Given the description of an element on the screen output the (x, y) to click on. 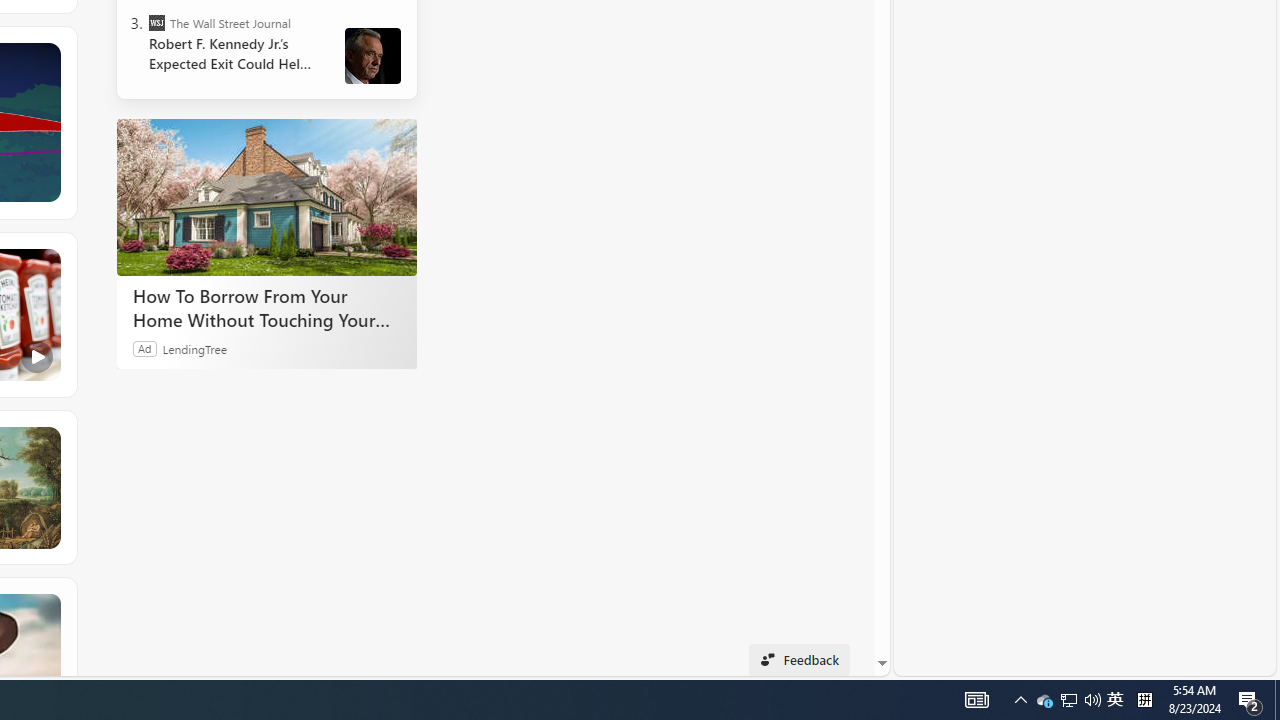
The Wall Street Journal (156, 22)
